Given the description of an element on the screen output the (x, y) to click on. 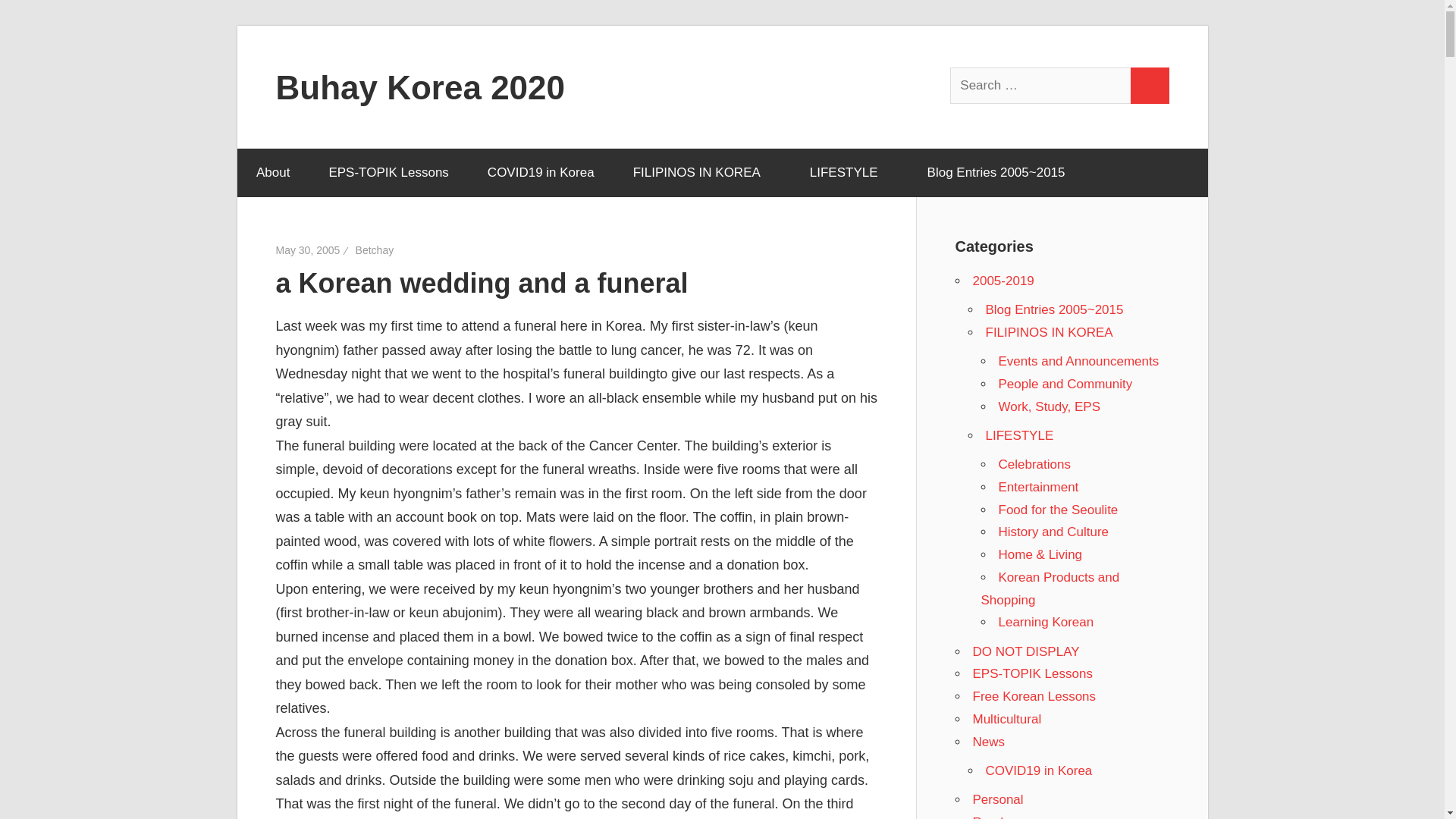
FILIPINOS IN KOREA (701, 172)
EPS-TOPIK Lessons (387, 172)
Search for: (1041, 85)
May 30, 2005 (308, 250)
About (271, 172)
View all posts by Betchay (374, 250)
Betchay (374, 250)
7:57 pm (308, 250)
Buhay Korea 2020 (421, 86)
COVID19 in Korea (539, 172)
LIFESTYLE (848, 172)
